Given the description of an element on the screen output the (x, y) to click on. 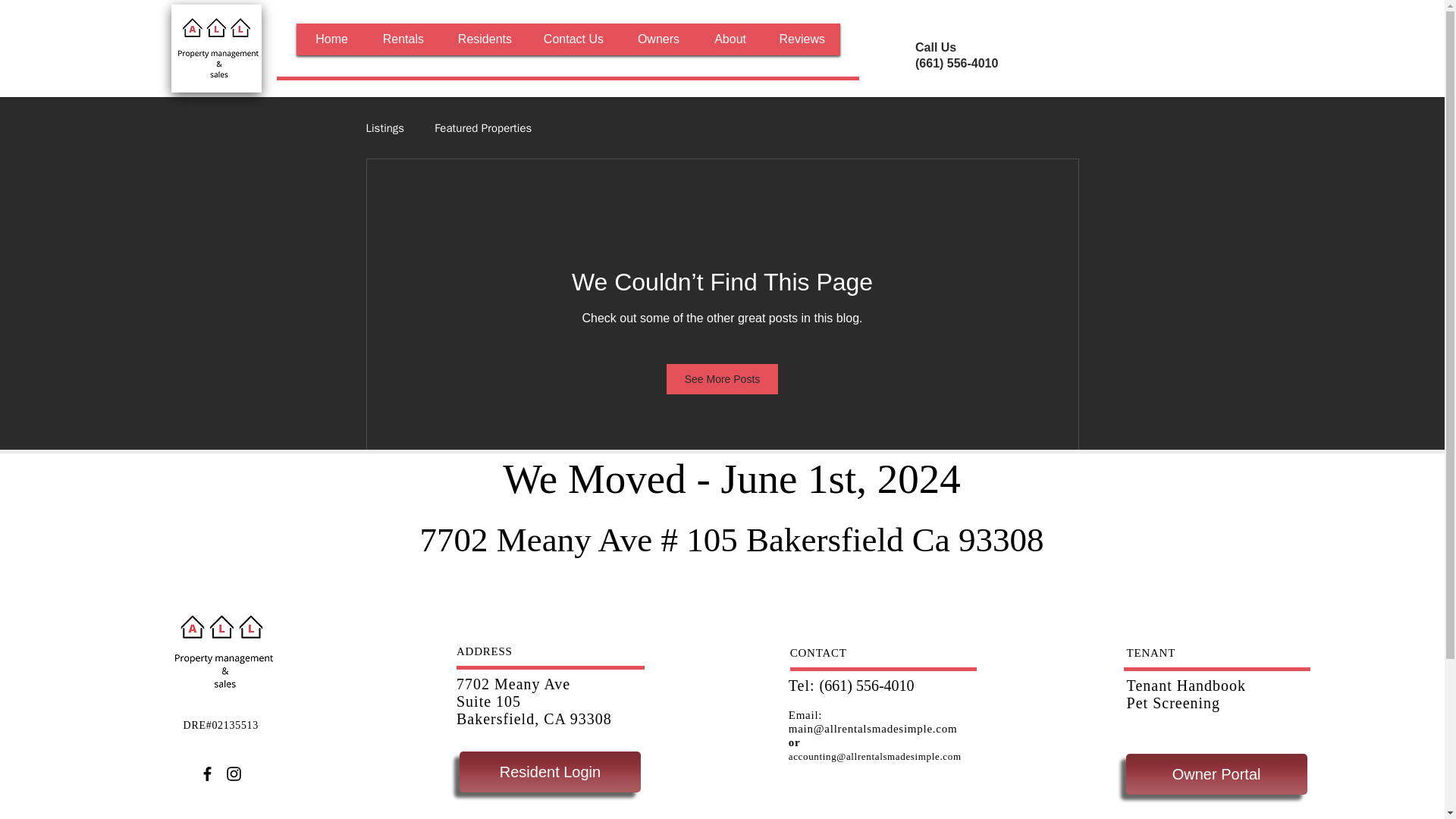
Owner Portal (1216, 773)
Tenant Handbook (1186, 685)
Reviews (800, 39)
Listings (384, 128)
Home (329, 39)
About (727, 39)
Owners (656, 39)
Pet Screening (1173, 702)
Call Us (935, 47)
Contact Us (572, 39)
